Given the description of an element on the screen output the (x, y) to click on. 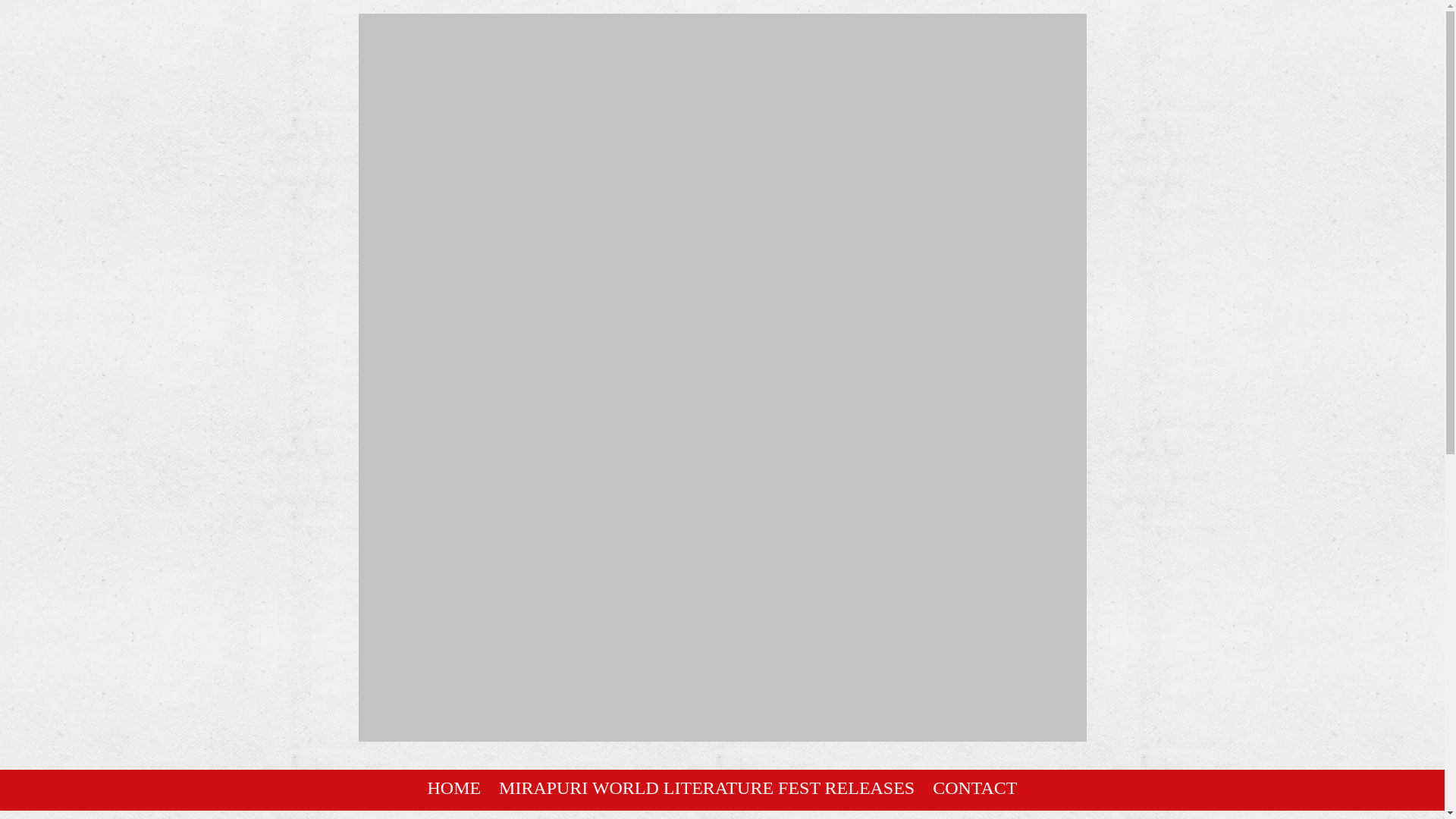
Mirapuri World Literature and Multimedia Fest (722, 726)
CONTACT (974, 787)
HOME (454, 787)
MIRAPURI WORLD LITERATURE FEST RELEASES (706, 787)
